Given the description of an element on the screen output the (x, y) to click on. 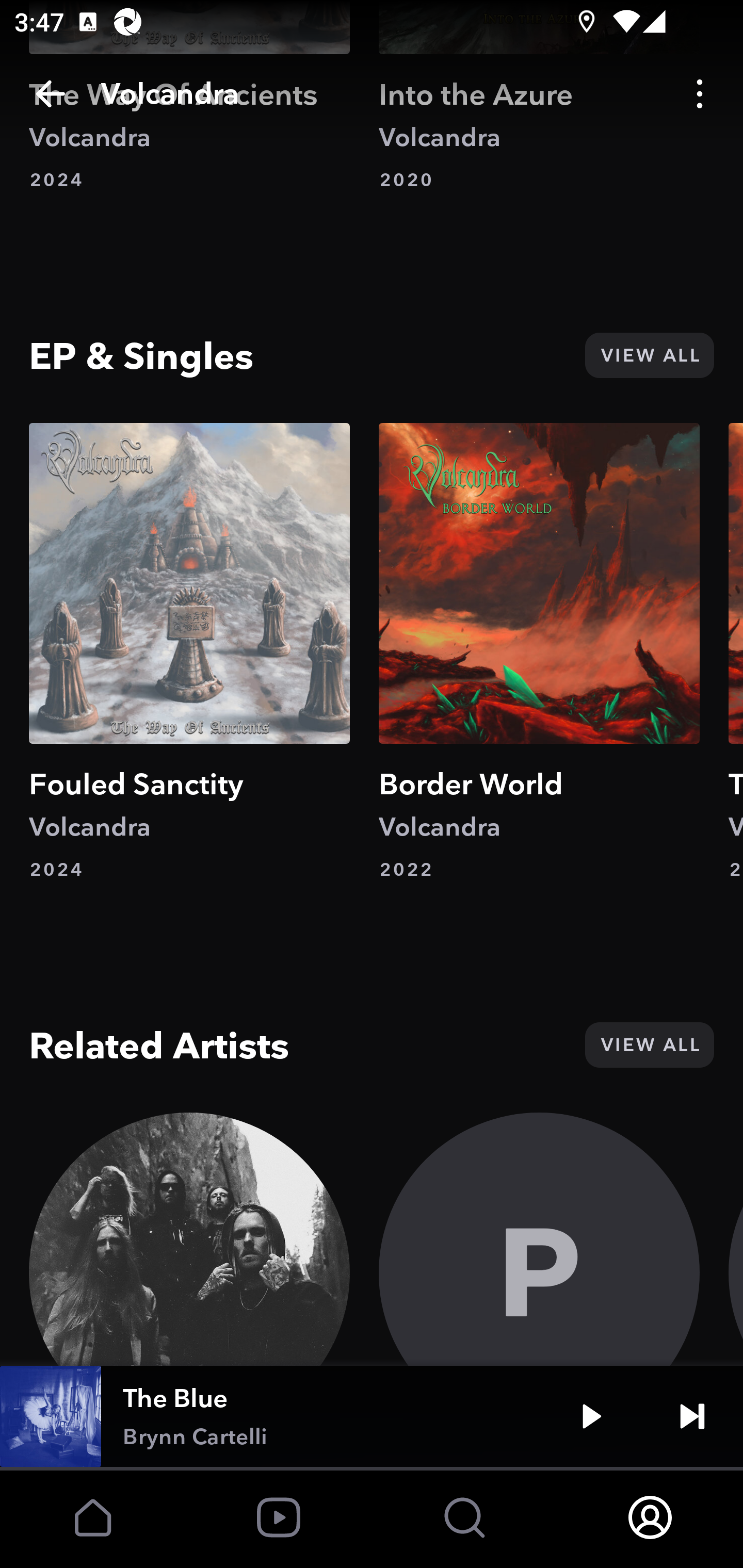
Options (699, 93)
VIEW ALL (649, 354)
Fouled Sanctity Volcandra 2024 (188, 652)
Border World Volcandra 2022 (538, 652)
VIEW ALL (649, 1044)
P (538, 1239)
The Blue Brynn Cartelli Play (371, 1416)
Play (590, 1416)
